Given the description of an element on the screen output the (x, y) to click on. 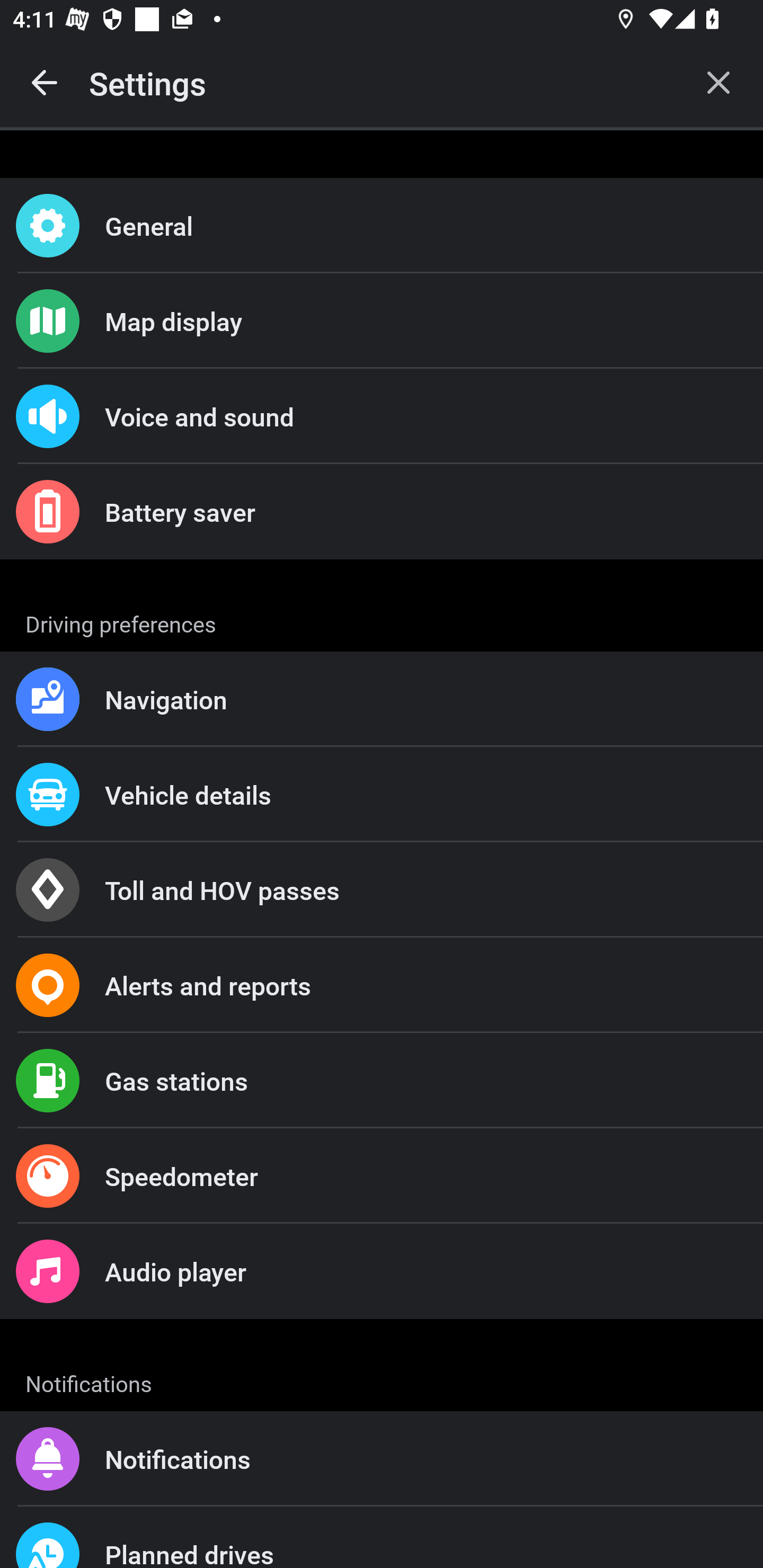
General (381, 225)
Map display (381, 320)
Voice and sound (381, 416)
Battery saver (381, 511)
ACTION_CELL_ICON Settings ACTION_CELL_TEXT (381, 620)
Navigation (381, 699)
ACTION_CELL_ICON Shut off ACTION_CELL_TEXT (381, 891)
Alerts and reports (381, 985)
Gas stations (381, 1080)
Speedometer (381, 1175)
Audio player (381, 1270)
Notifications (381, 1458)
